Given the description of an element on the screen output the (x, y) to click on. 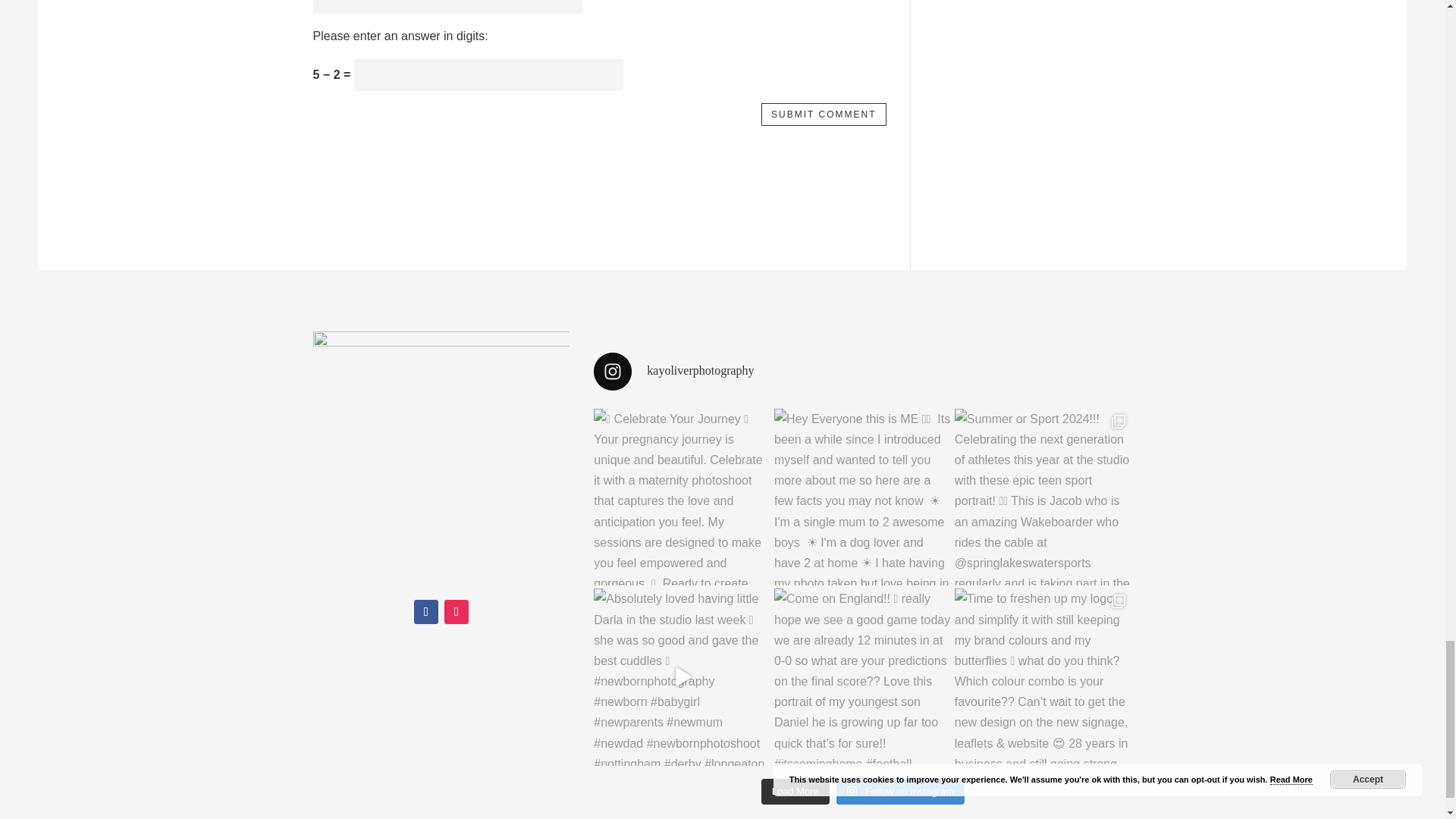
Submit Comment (823, 114)
Kay Oliver Photography (441, 459)
Follow on Instagram (456, 611)
Follow on Facebook (425, 611)
